Given the description of an element on the screen output the (x, y) to click on. 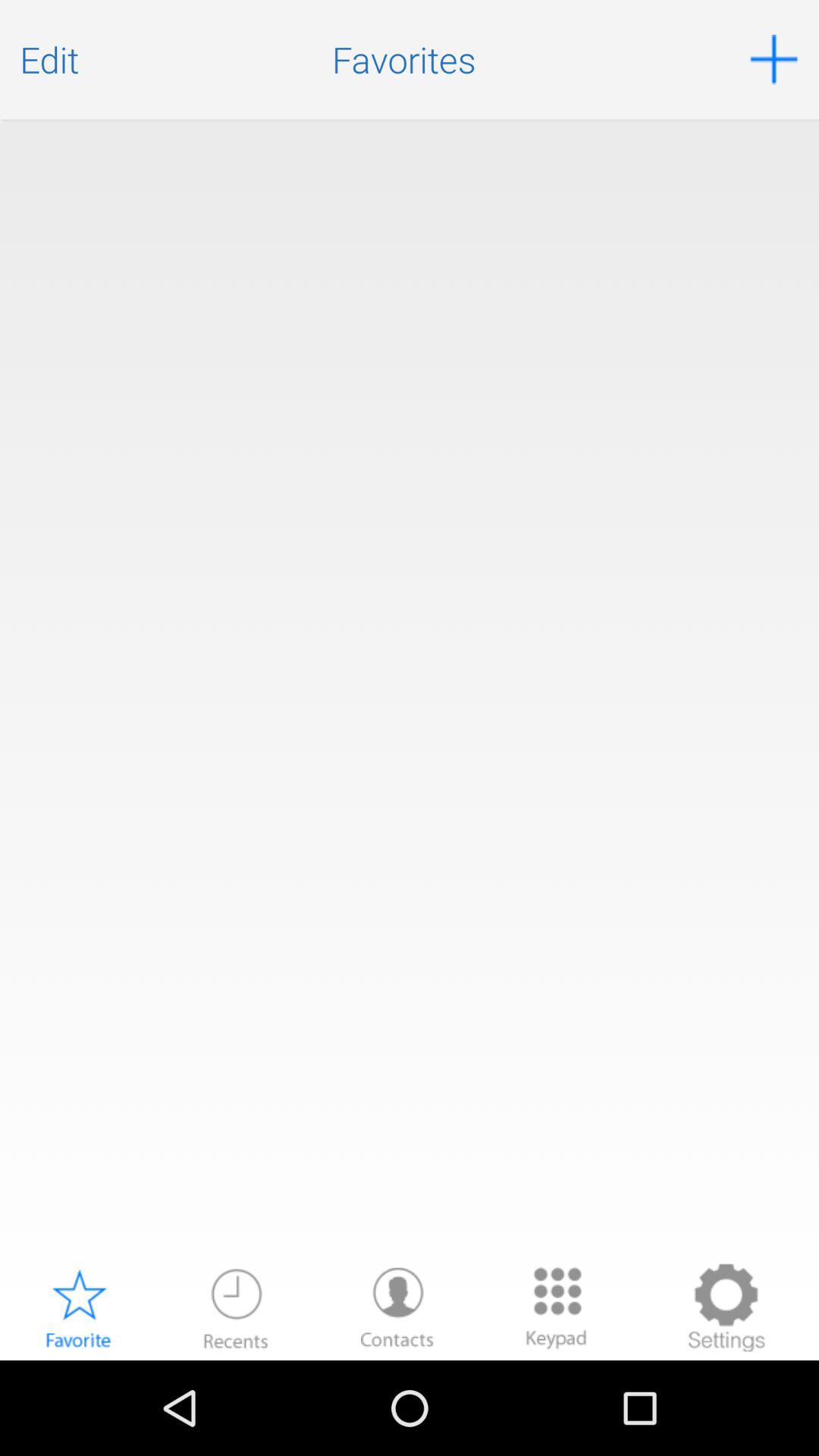
go to recent (235, 1307)
